Given the description of an element on the screen output the (x, y) to click on. 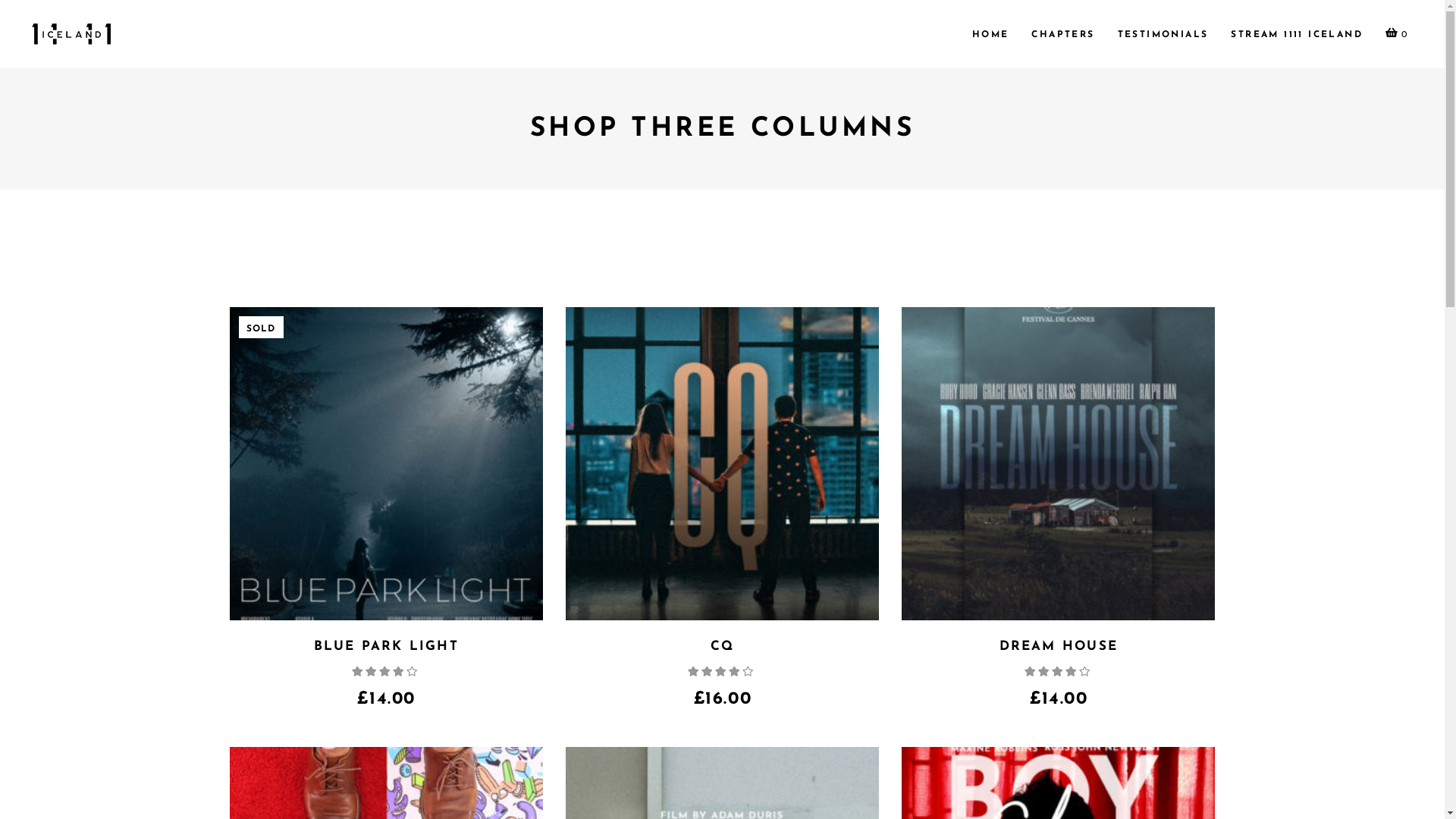
0 Element type: text (1395, 34)
TESTIMONIALS Element type: text (1163, 34)
STREAM 1111 ICELAND Element type: text (1296, 34)
CQ Element type: text (722, 646)
DREAM HOUSE Element type: text (1058, 646)
HOME Element type: text (990, 34)
BLUE PARK LIGHT Element type: text (385, 646)
CHAPTERS Element type: text (1062, 34)
